Given the description of an element on the screen output the (x, y) to click on. 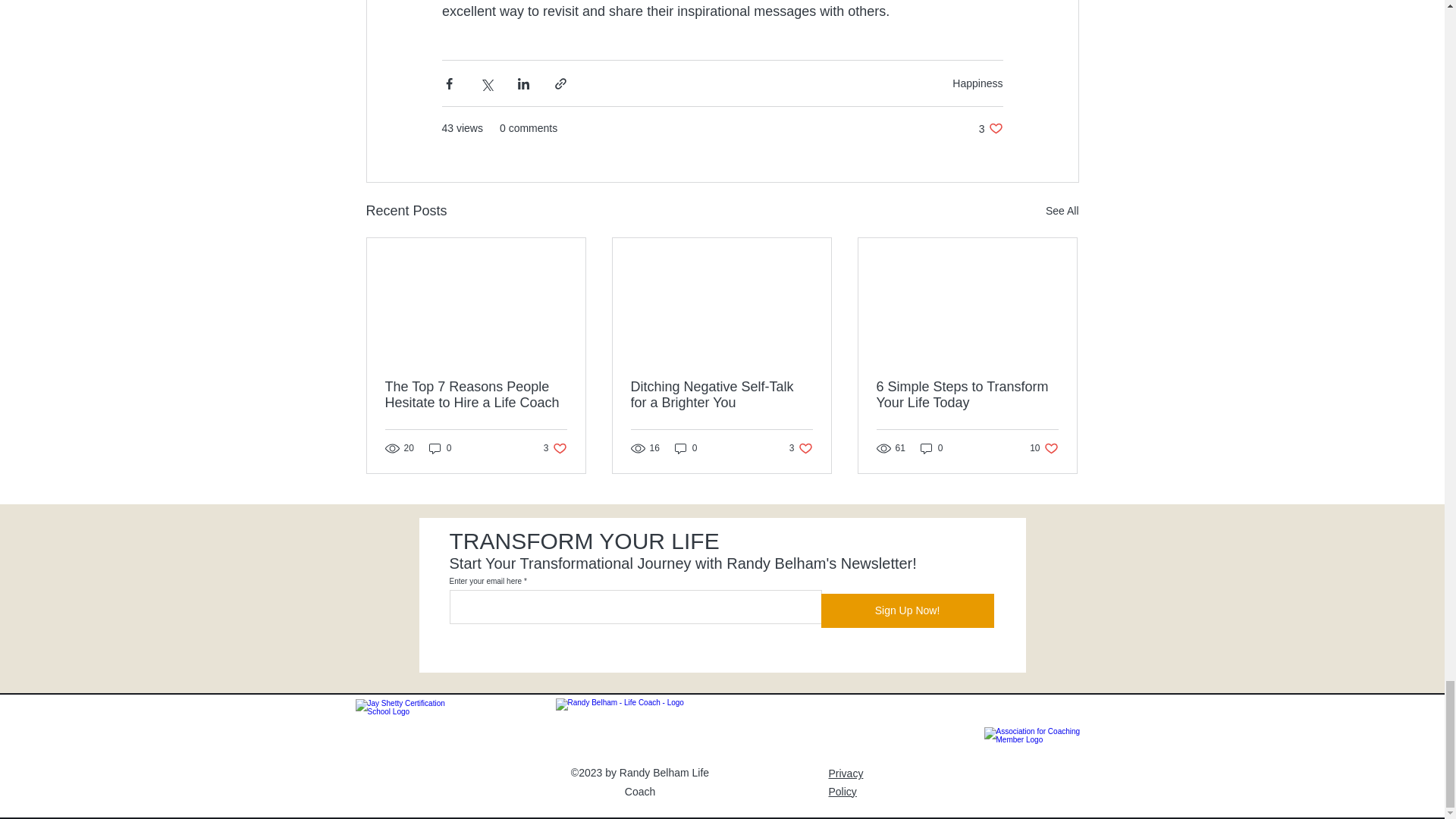
0 (440, 448)
The Top 7 Reasons People Hesitate to Hire a Life Coach (476, 395)
Happiness (990, 128)
See All (977, 82)
Ditching Negative Self-Talk for a Brighter You (1061, 210)
